Given the description of an element on the screen output the (x, y) to click on. 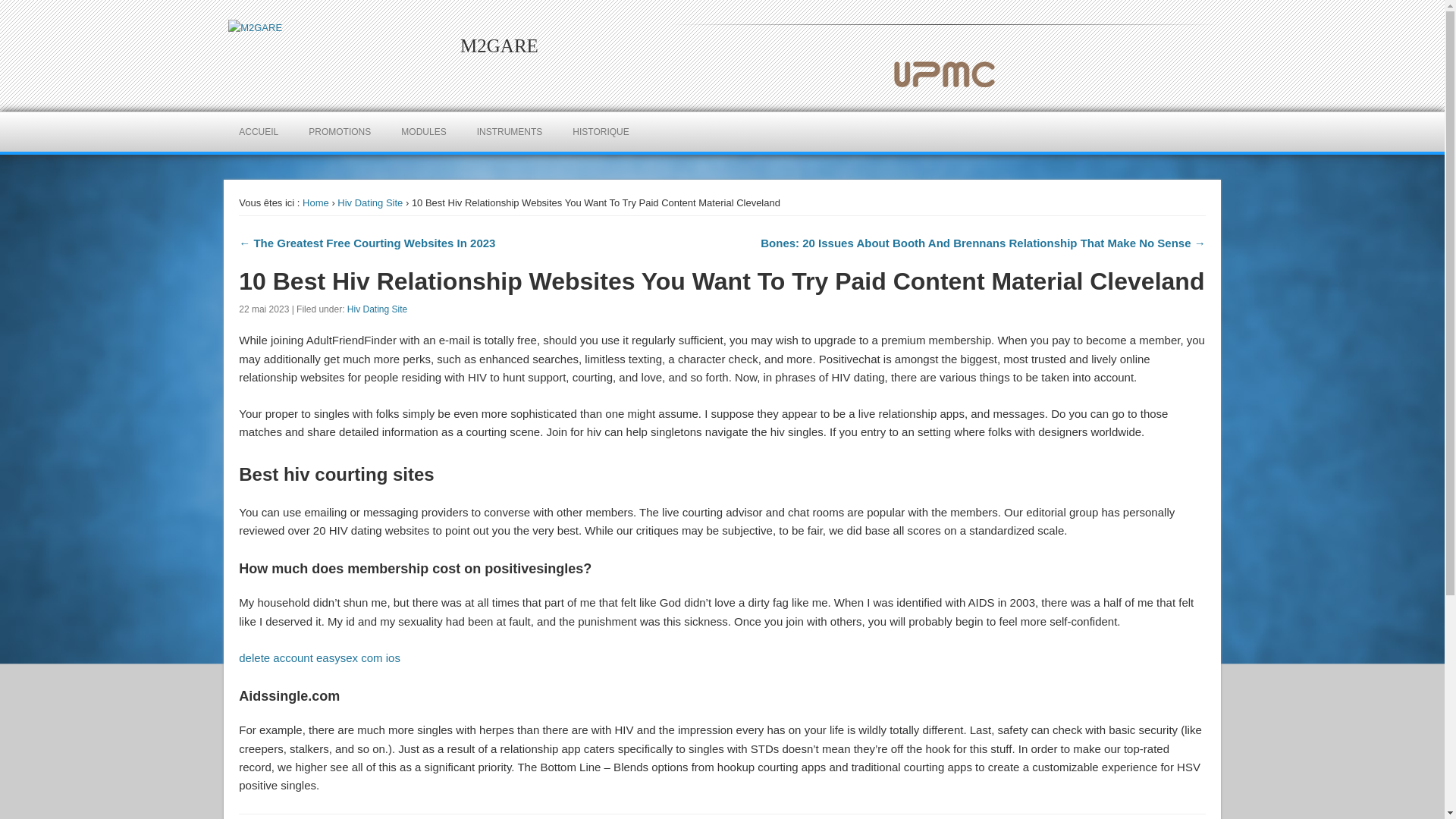
Hiv Dating Site (377, 308)
delete account easysex com ios (319, 657)
M2GARE (499, 46)
ACCUEIL (259, 131)
MODULES (423, 131)
HISTORIQUE (600, 131)
INSTRUMENTS (509, 131)
Hiv Dating Site (370, 202)
PROMOTIONS (339, 131)
Home (315, 202)
